Given the description of an element on the screen output the (x, y) to click on. 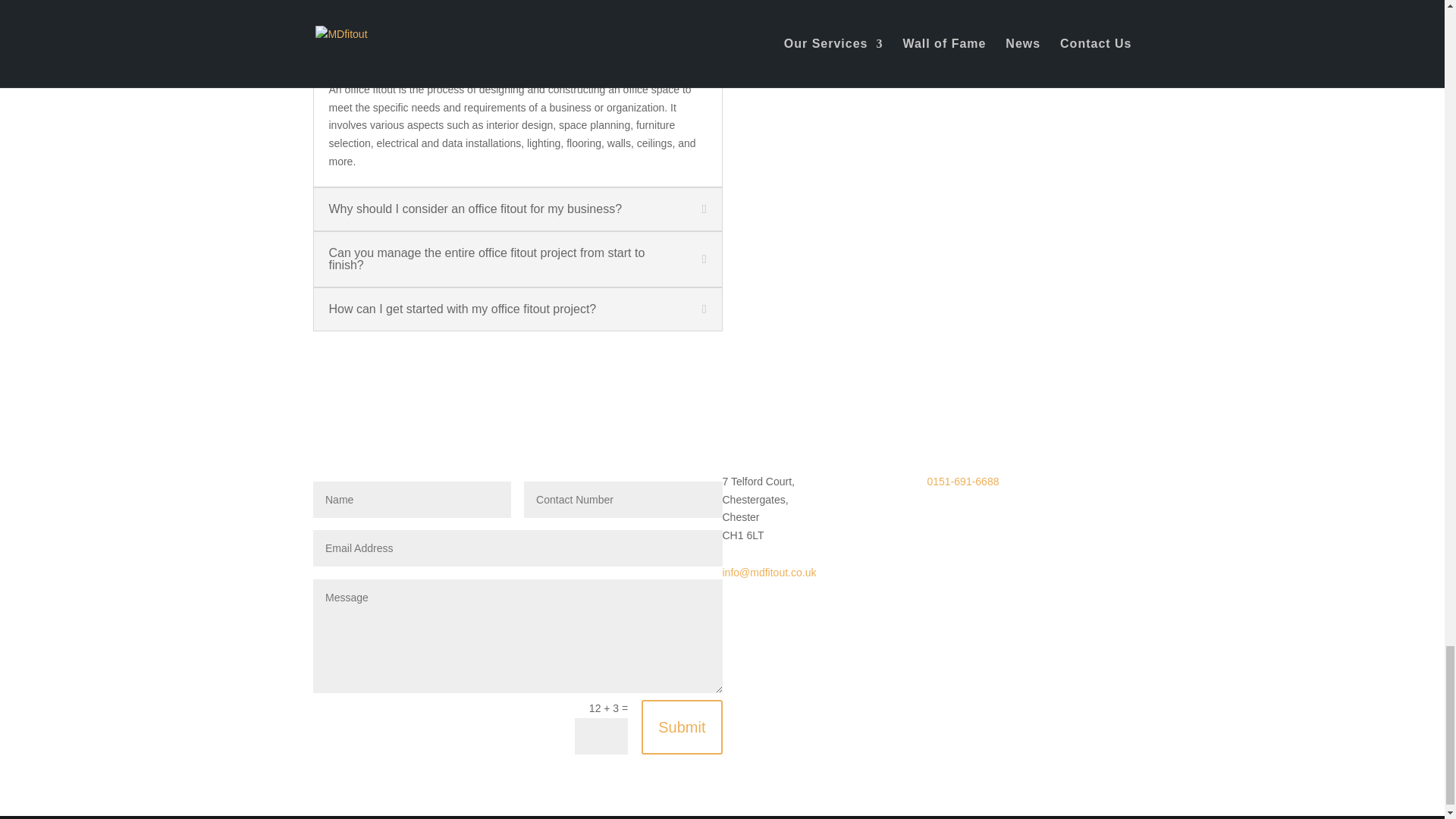
Follow on Twitter (1029, 522)
Follow on LinkedIn (999, 522)
Submit (682, 726)
Follow on Instagram (938, 522)
Only numbers allowed. (623, 499)
Follow on Facebook (968, 522)
0151-691-6688 (962, 481)
Submit Project (787, 57)
